Given the description of an element on the screen output the (x, y) to click on. 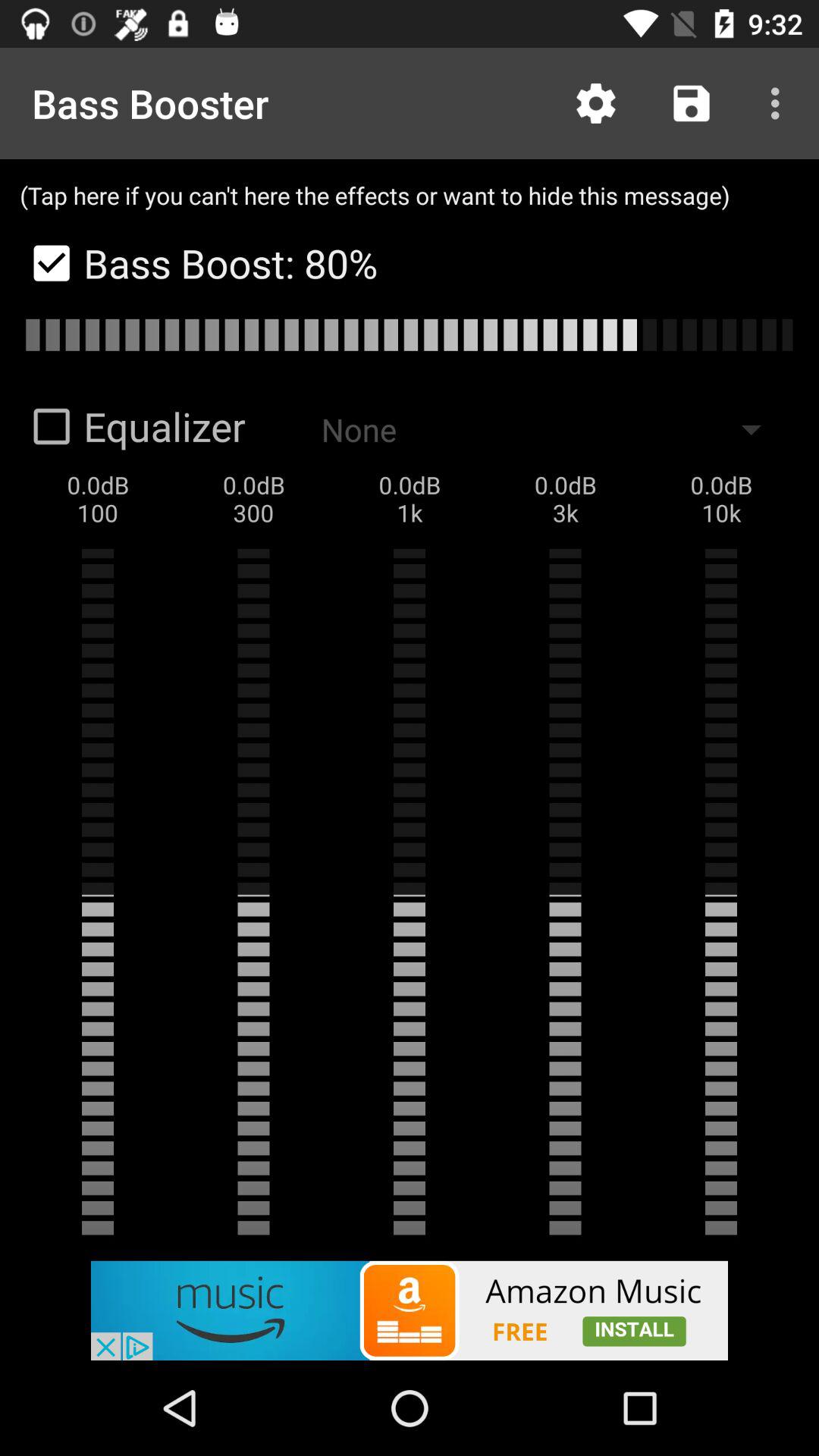
open advertisement (409, 1310)
